Given the description of an element on the screen output the (x, y) to click on. 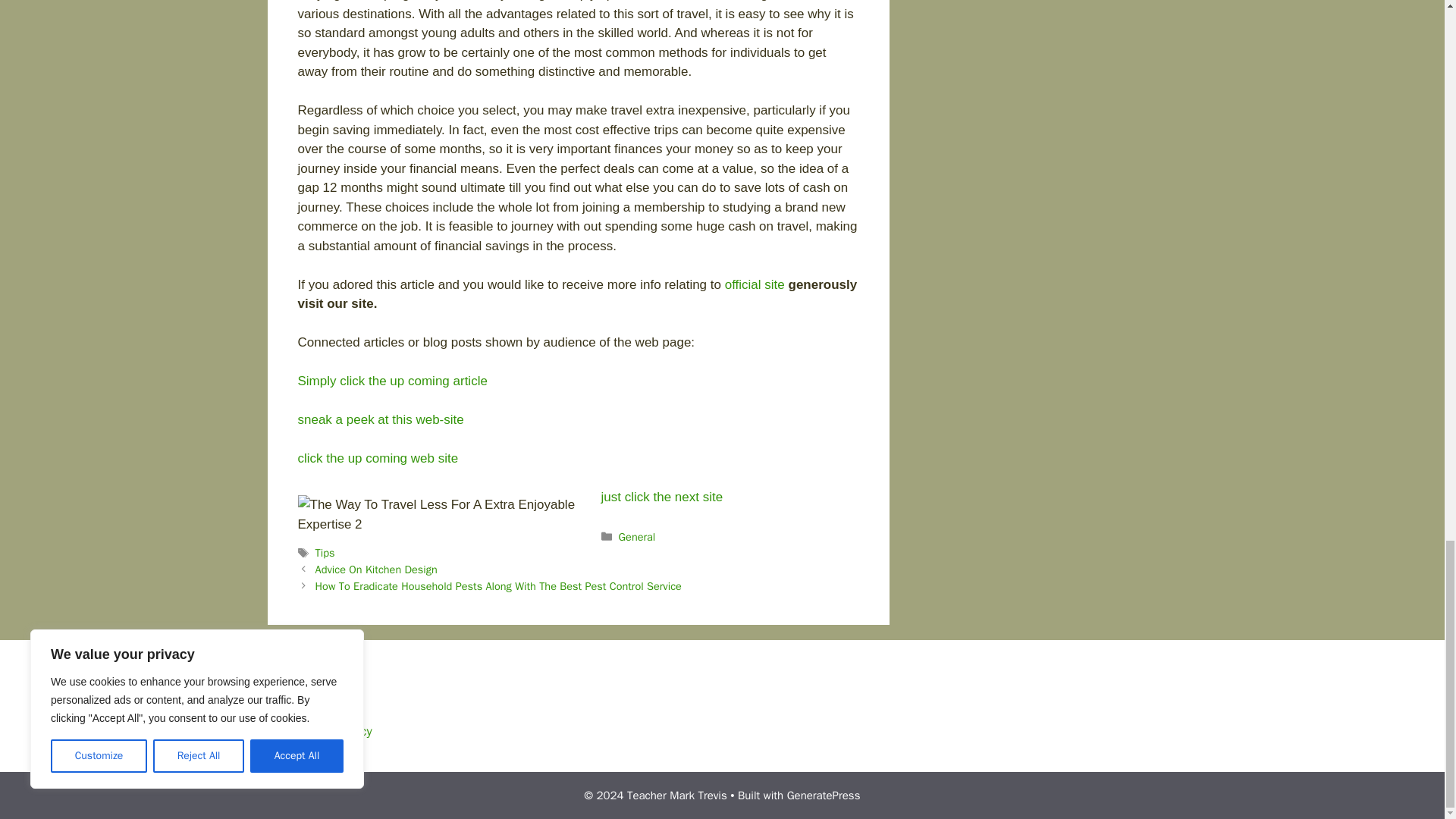
General (637, 536)
just click the next site (660, 496)
Tips (324, 552)
sneak a peek at this web-site (380, 419)
click the up coming web site (377, 458)
official site (754, 284)
Advice On Kitchen Design (376, 569)
Simply click the up coming article (391, 380)
